Given the description of an element on the screen output the (x, y) to click on. 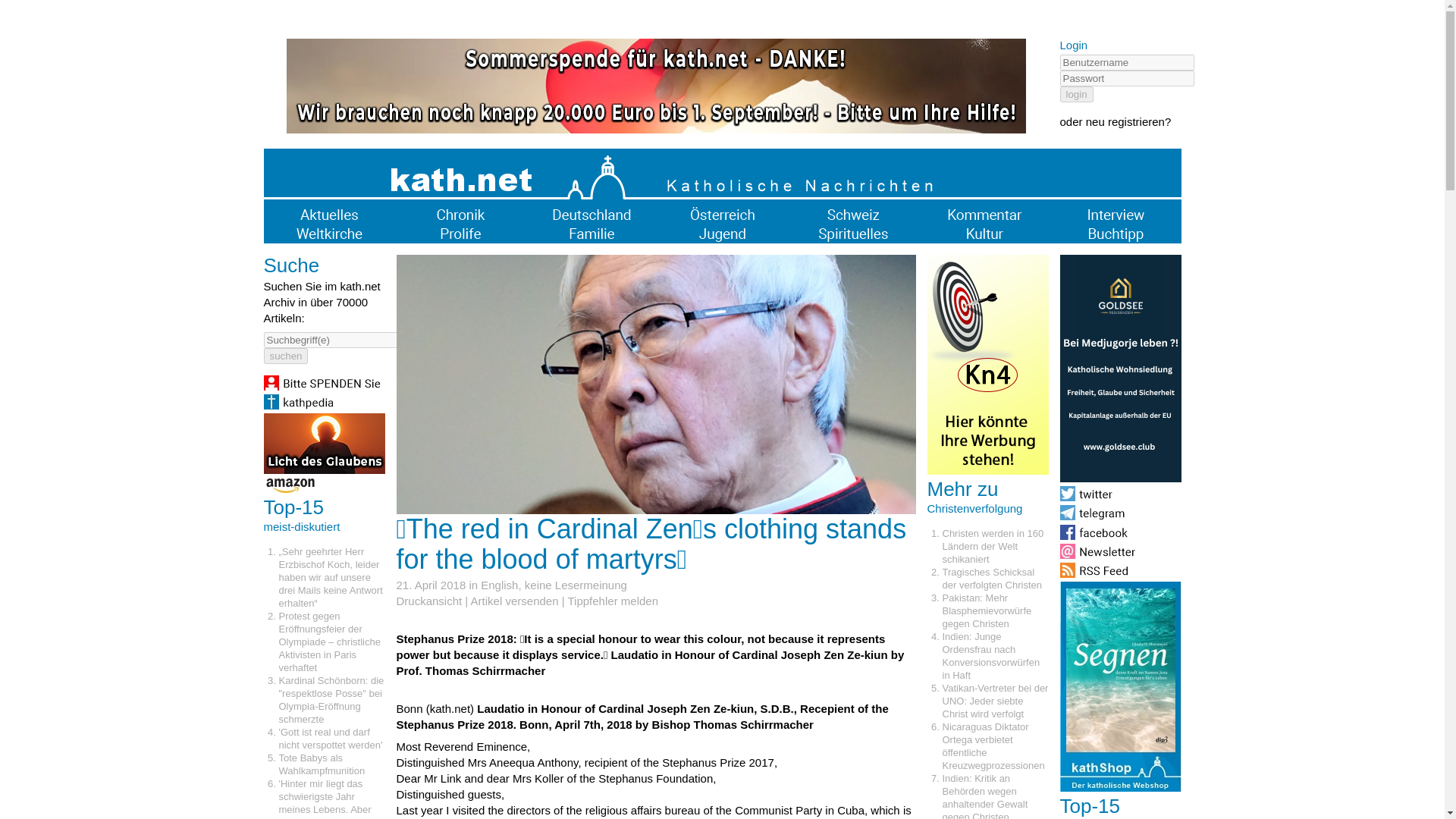
English (499, 584)
suchen (285, 355)
Druckansicht (428, 600)
neu registrieren (1125, 121)
suchen (285, 355)
login (1076, 94)
Tote Babys als Wahlkampfmunition (322, 764)
'Gott ist real und darf nicht verspottet werden' (330, 738)
login (1076, 94)
